Given the description of an element on the screen output the (x, y) to click on. 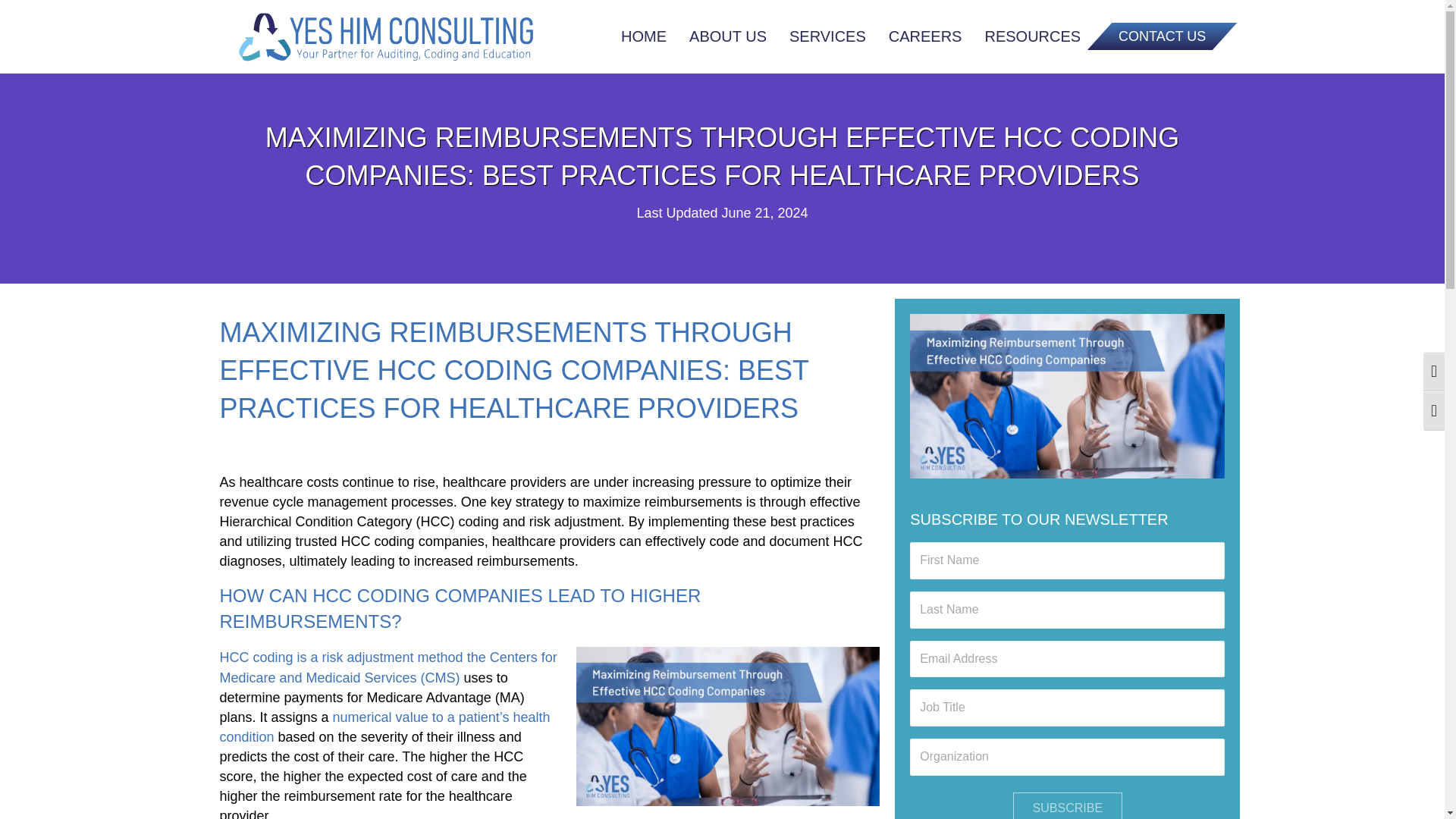
ABOUT US (727, 36)
HOME (643, 36)
Subscribe (1067, 805)
SERVICES (827, 36)
CONTACT US (1149, 35)
RESOURCES (1031, 36)
CAREERS (925, 36)
